Given the description of an element on the screen output the (x, y) to click on. 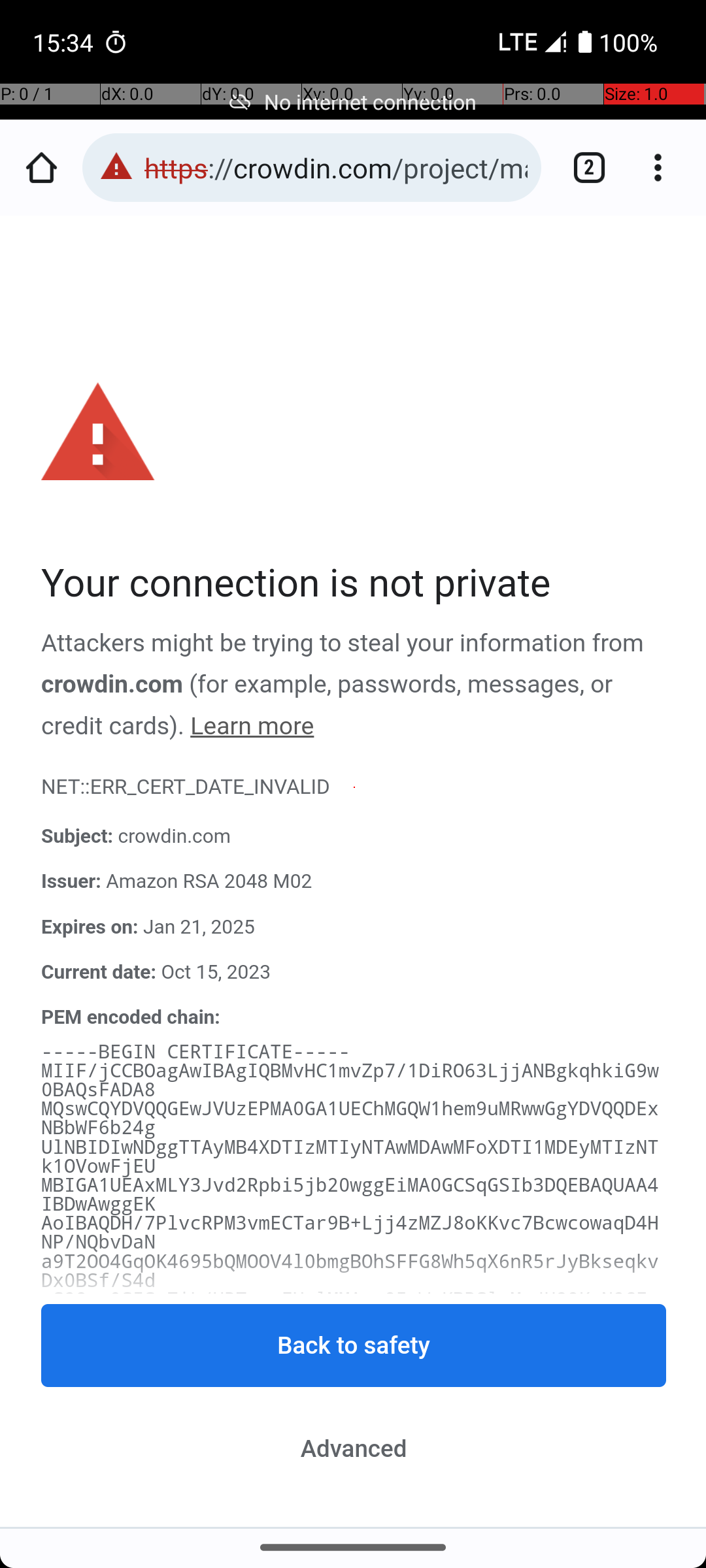
https://crowdin.com/project/markor/invite Element type: android.widget.EditText (335, 167)
crowdin.com Element type: android.widget.TextView (112, 684)
Subject: crowdin.com Element type: android.widget.TextView (354, 836)
Issuer: Amazon RSA 2048 M02 Element type: android.widget.TextView (354, 882)
Expires on: Jan 21, 2025 Element type: android.widget.TextView (354, 927)
Current date: Oct 15, 2023 Element type: android.widget.TextView (354, 972)
PEM encoded chain: Element type: android.widget.TextView (130, 1016)
-----BEGIN CERTIFICATE----- Element type: android.widget.TextView (196, 1052)
MIIF/jCCBOagAwIBAgIQBMvHC1mvZp7/1DiRO63LjjANBgkqhkiG9w0BAQsFADA8 Element type: android.widget.TextView (349, 1080)
MQswCQYDVQQGEwJVUzEPMA0GA1UEChMGQW1hem9uMRwwGgYDVQQDExNBbWF6b24g Element type: android.widget.TextView (349, 1118)
UlNBIDIwNDggTTAyMB4XDTIzMTIyNTAwMDAwMFoXDTI1MDEyMTIzNTk1OVowFjEU Element type: android.widget.TextView (349, 1156)
MBIGA1UEAxMLY3Jvd2Rpbi5jb20wggEiMA0GCSqGSIb3DQEBAQUAA4IBDwAwggEK Element type: android.widget.TextView (349, 1194)
AoIBAQDH/7PlvcRPM3vmECTar9B+Ljj4zMZJ8oKKvc7BcwcowaqD4HNP/NQbvDaN Element type: android.widget.TextView (349, 1232)
a9T2OO4GqOK4695bQMOOV4l0bmgBOhSFFG8Wh5qX6nR5rJyBkseqkvDx0BSf/S4d Element type: android.widget.TextView (349, 1270)
wS2Oag9SISaZiL/HRTcxqEUglMMAmv8InWpKBPSlqMoJHOQKsNQGEa7ojLWXRwqN Element type: android.widget.TextView (349, 1309)
H3H9l0JYoYcc4JguD1/5mE0FEV5UA9g/Dw3ZjTzaekyCBGh3uBdnGuAA8Qksnd1i Element type: android.widget.TextView (349, 1347)
XVNtWu0GmbA9sPGGc2w65DzDzNe8Fn4Oi3Bp0j1clciOv/h3gN8cP5vXg2zoTSML Element type: android.widget.TextView (349, 1385)
3KgTMviRxMdkYSiUWZ3o/ZuLz9tdAgMBAAGjggMgMIIDHDAfBgNVHSMEGDAWgBTA Element type: android.widget.TextView (349, 1423)
MVLNWlDDgnx0cc7L6Zz5euuC4jAdBgNVHQ4EFgQUVU+YVGnSAUW9ZKkeTMtYGSPe Element type: android.widget.TextView (349, 1461)
Hk8wUQYDVR0RBEowSIILY3Jvd2Rpbi5jb22CDSouY3Jvd2Rpbi5jb22CESouYXBp Element type: android.widget.TextView (349, 1499)
LmNyb3dkaW4uY29tghcqLnRyYW5zbGF0ZS5jcm93ZGluLmNvbTATBgNVHSAEDDAK Element type: android.widget.TextView (349, 1521)
